Given the description of an element on the screen output the (x, y) to click on. 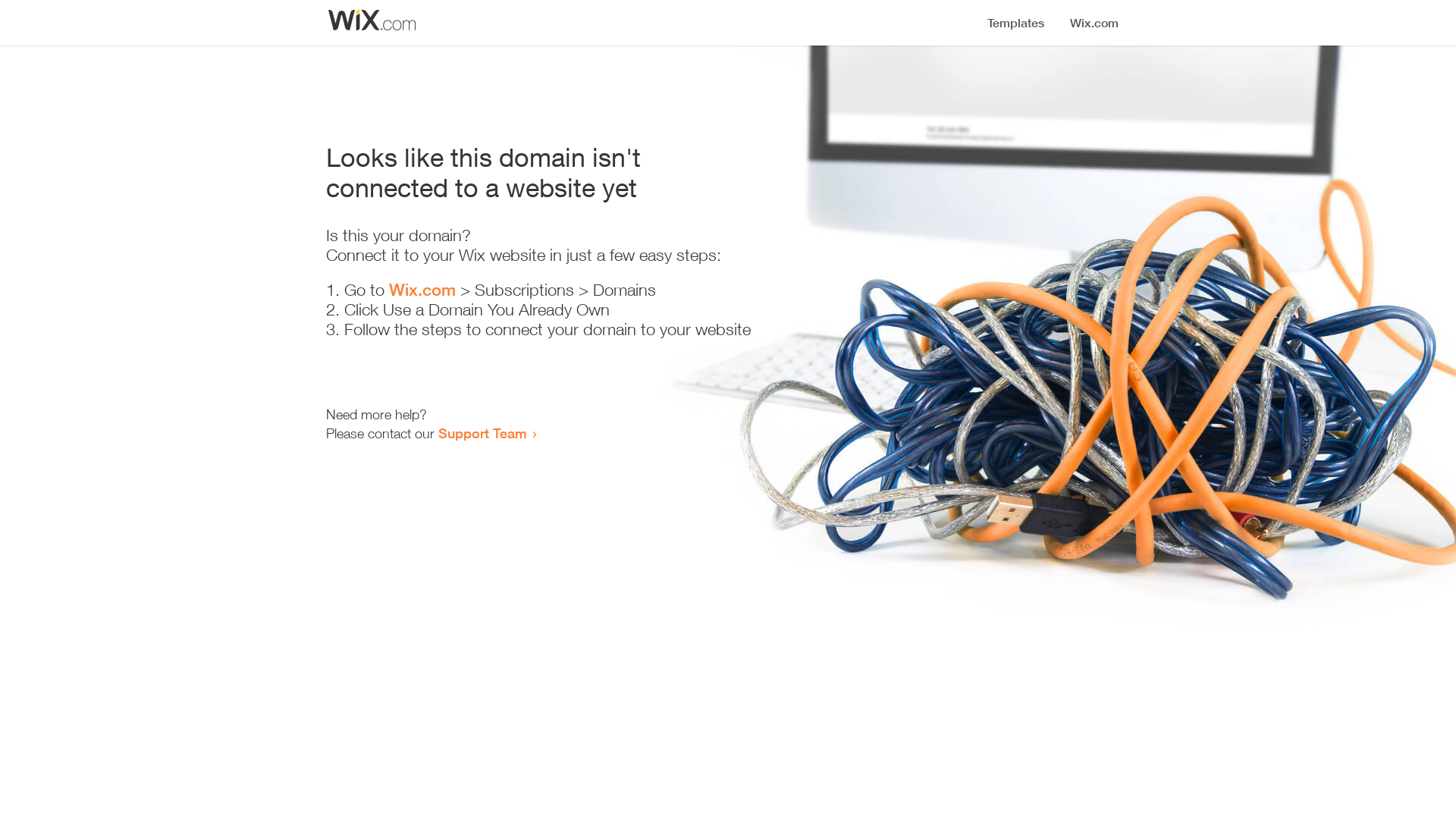
Support Team Element type: text (482, 432)
Wix.com Element type: text (422, 289)
